Given the description of an element on the screen output the (x, y) to click on. 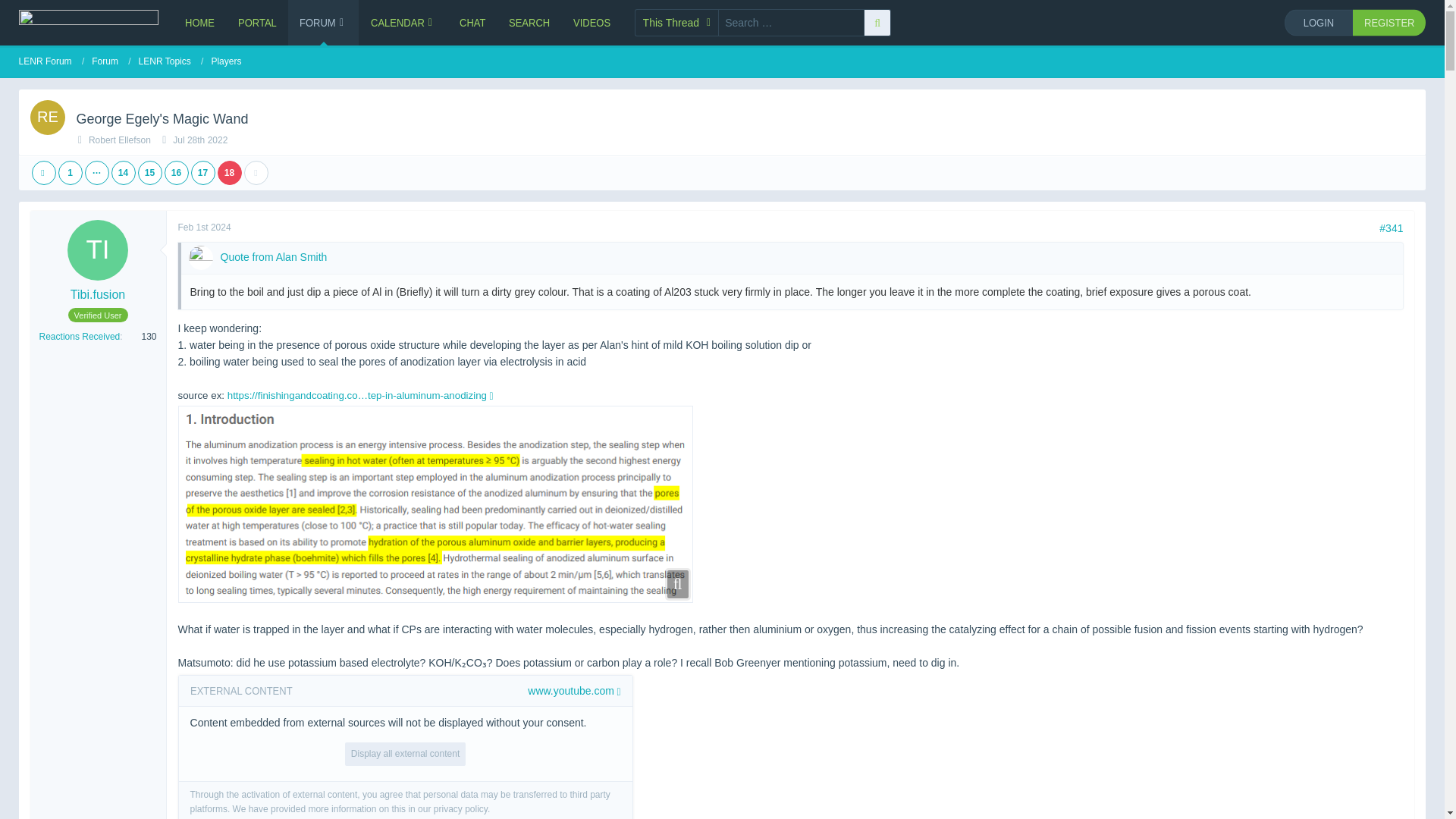
Go to Page (96, 172)
15 (149, 172)
Forum (111, 61)
14 (123, 172)
LENR Forum (51, 61)
PORTAL (257, 22)
REGISTER (1388, 20)
VIDEOS (591, 22)
CALENDAR (402, 22)
Robert Ellefson (119, 140)
